Given the description of an element on the screen output the (x, y) to click on. 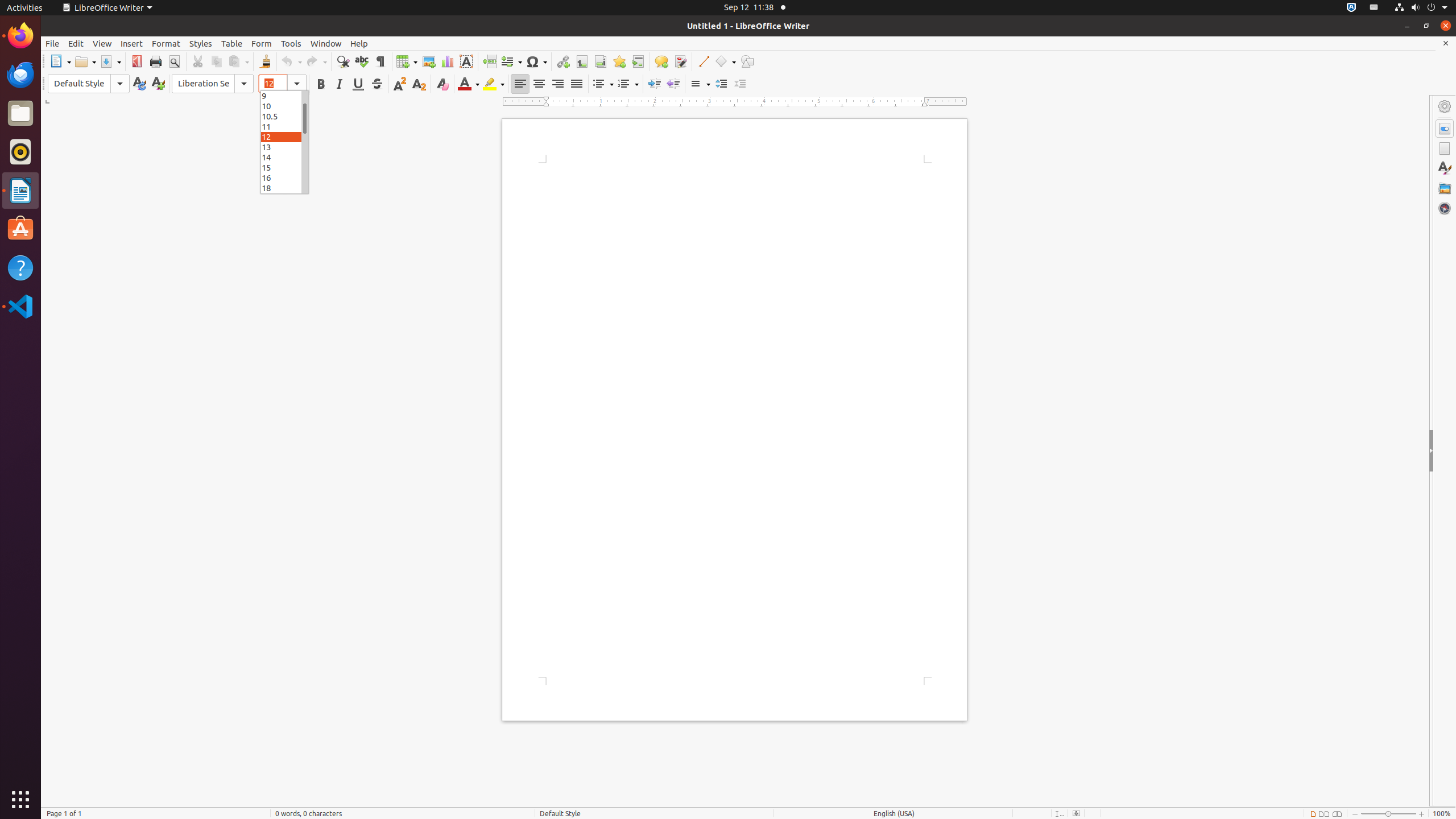
File Element type: menu (51, 43)
New Element type: push-button (157, 83)
Font Color Element type: push-button (468, 83)
Redo Element type: push-button (315, 61)
Bookmark Element type: push-button (618, 61)
